Given the description of an element on the screen output the (x, y) to click on. 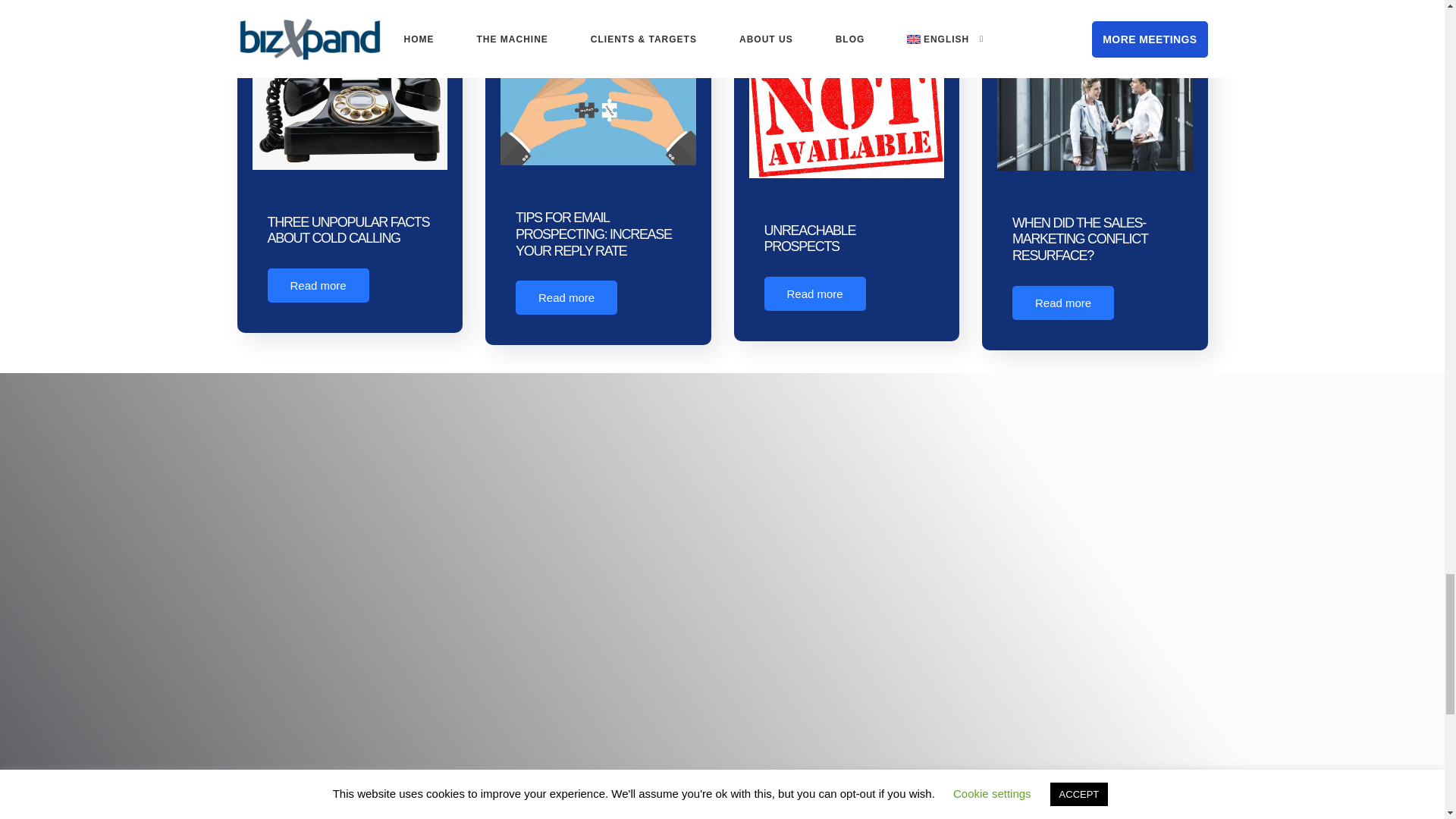
TIPS FOR EMAIL PROSPECTING: INCREASE YOUR REPLY RATE (593, 233)
Read more (317, 285)
THREE UNPOPULAR FACTS ABOUT COLD CALLING (347, 230)
